Given the description of an element on the screen output the (x, y) to click on. 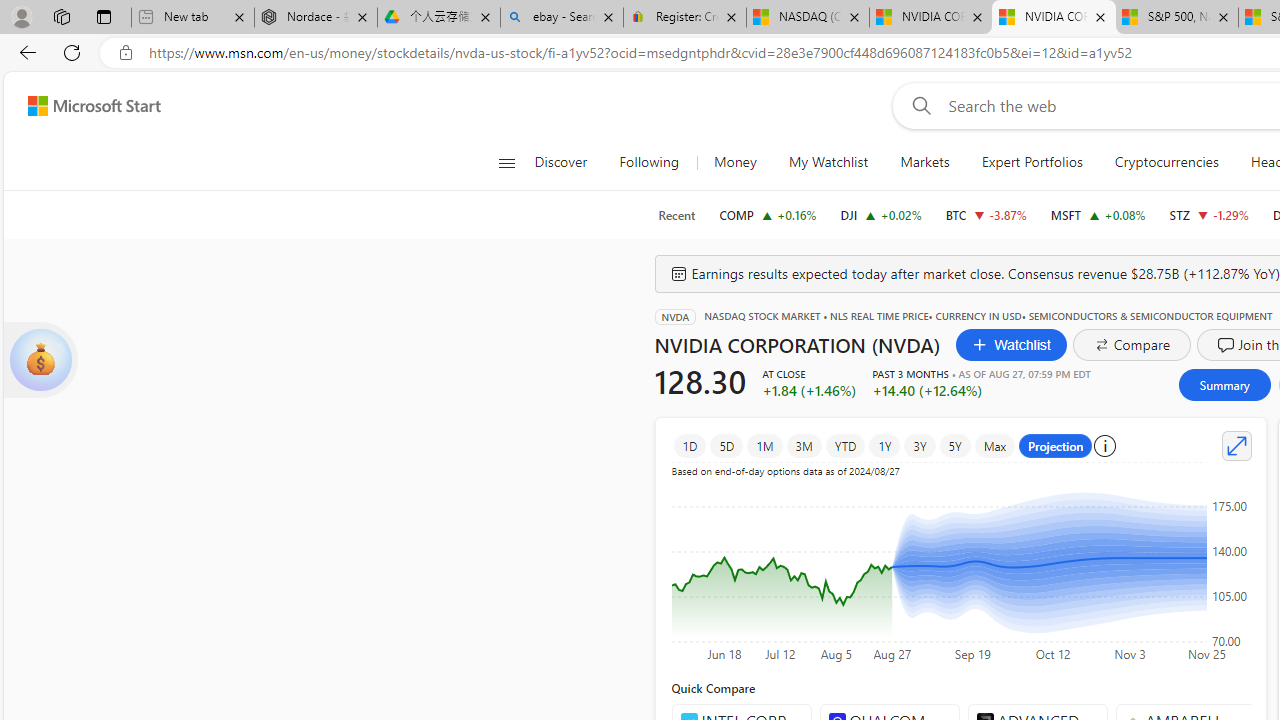
3Y (919, 445)
show card (40, 359)
Discover (568, 162)
Markets (924, 162)
Cryptocurrencies (1165, 162)
Recent (676, 215)
Class: recharts-surface (960, 566)
5Y (955, 445)
Following (649, 162)
Summary (1224, 384)
DJI DOW increase 41,250.50 +9.98 +0.02% (881, 214)
Register: Create a personal eBay account (684, 17)
